Given the description of an element on the screen output the (x, y) to click on. 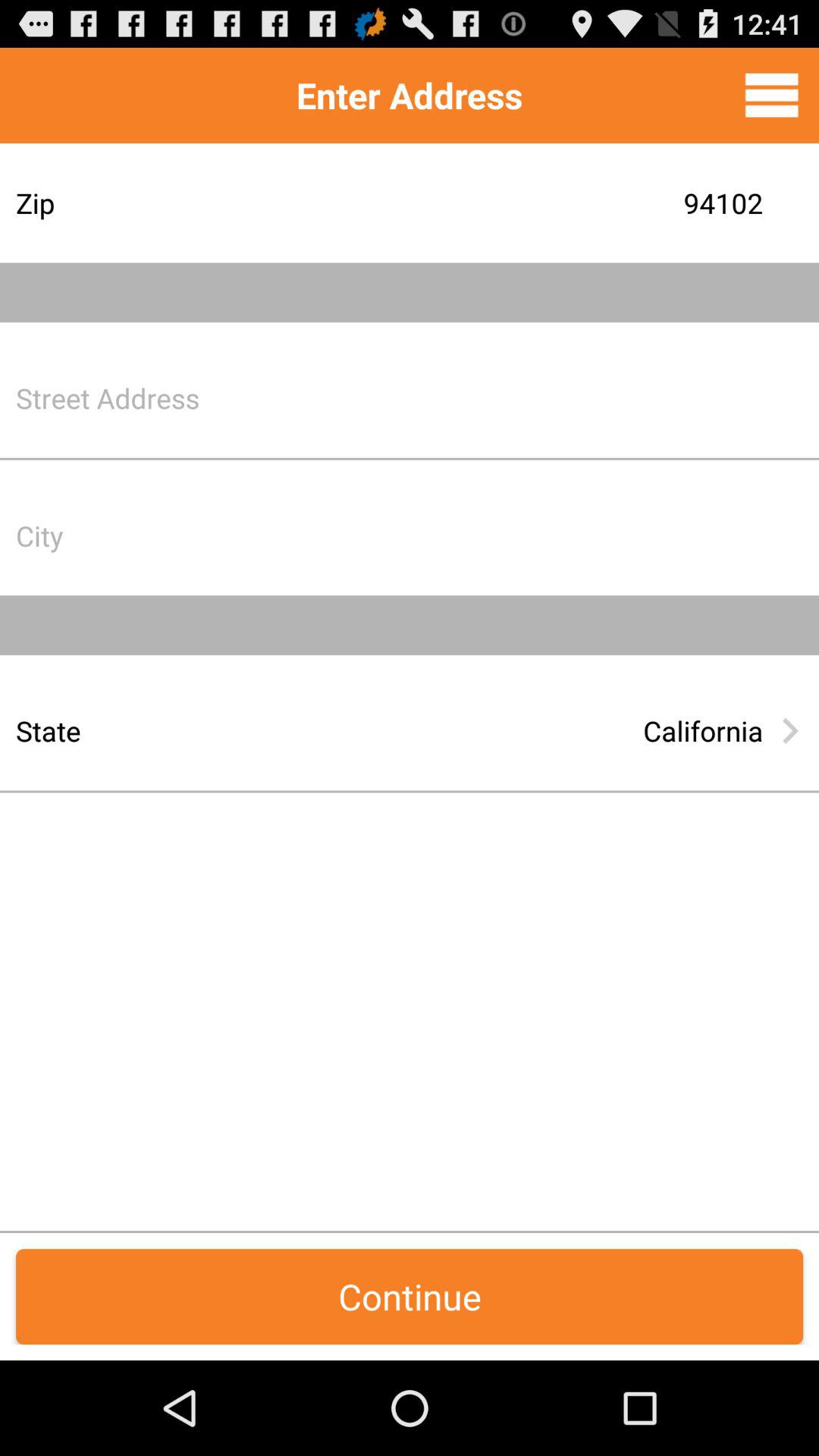
tap the 94102 item (527, 202)
